Given the description of an element on the screen output the (x, y) to click on. 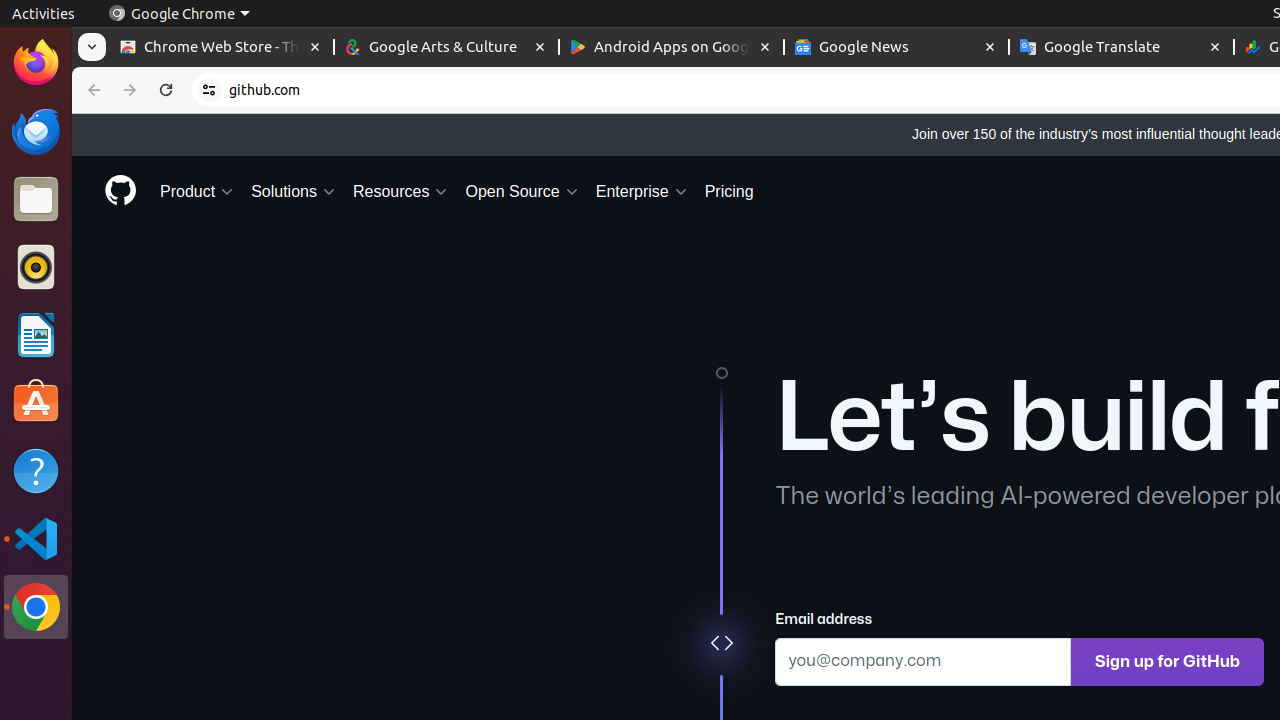
Google Arts & Culture - Memory usage - 60.0 MB Element type: page-tab (446, 47)
Google News - Memory usage - 51.2 MB Element type: page-tab (896, 47)
Files Element type: push-button (36, 199)
Enterprise Element type: push-button (642, 191)
Google Chrome Element type: push-button (36, 607)
